Given the description of an element on the screen output the (x, y) to click on. 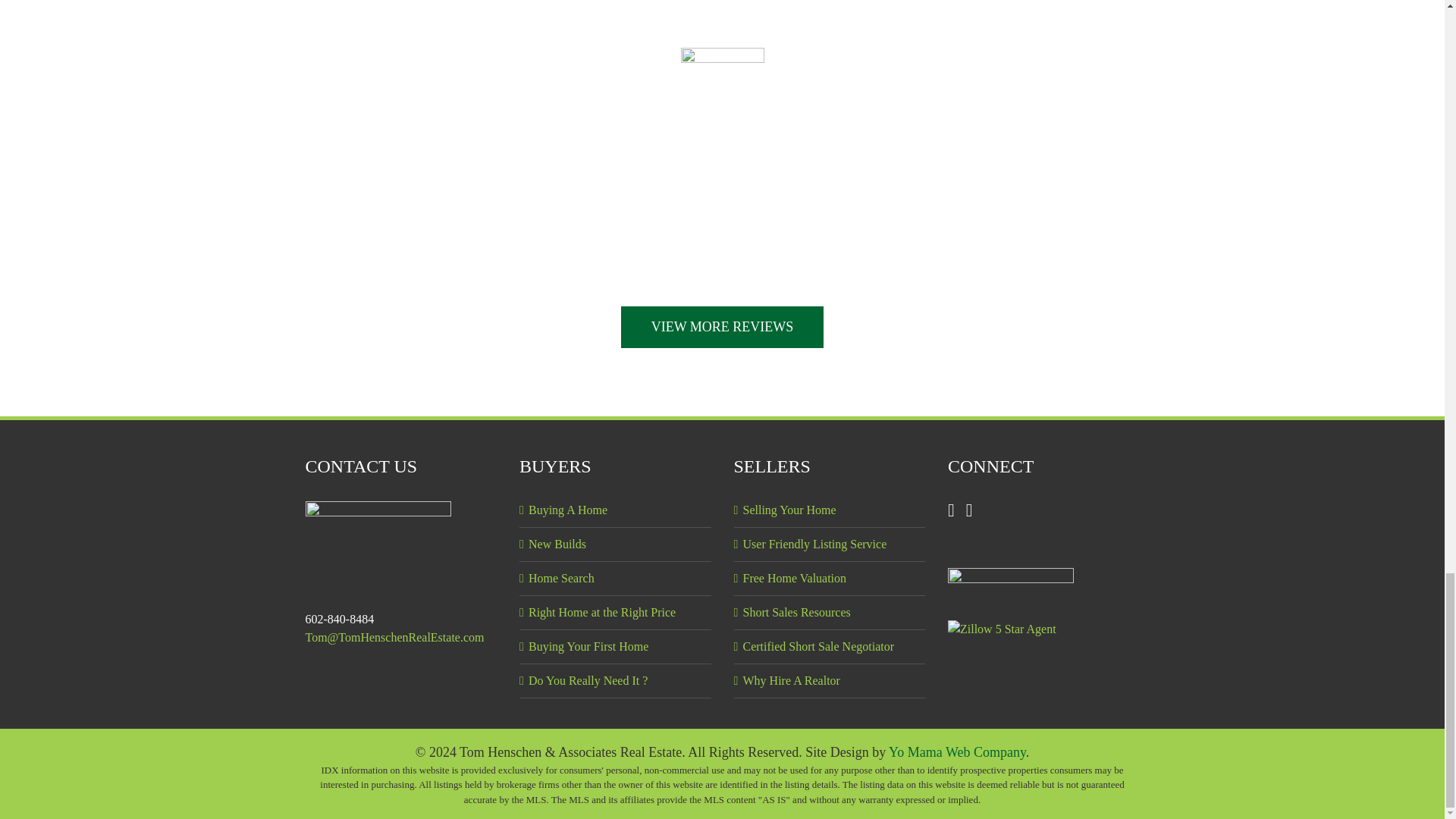
Zillow 5 Star Agent (1002, 628)
